Given the description of an element on the screen output the (x, y) to click on. 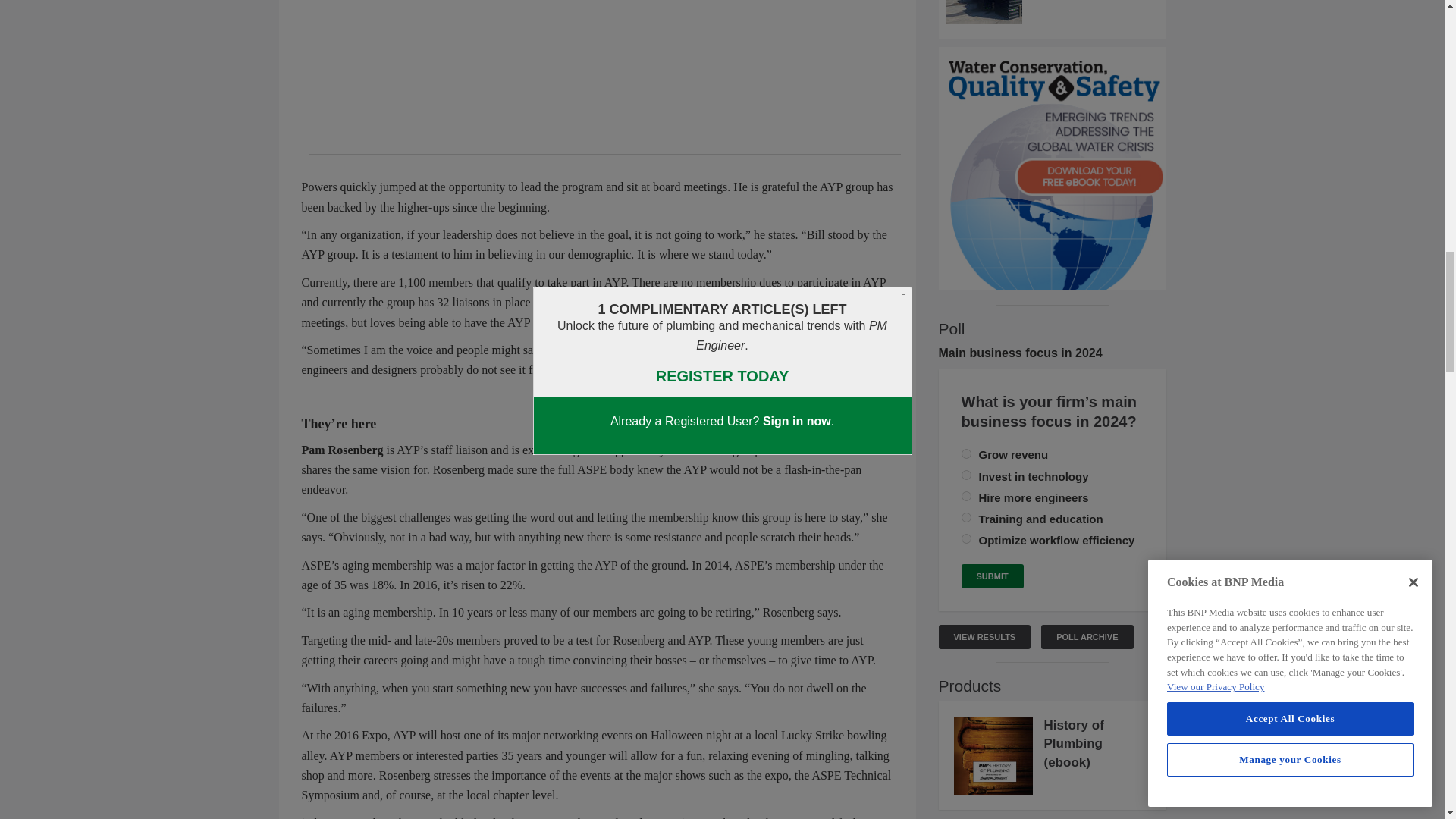
IPEX North American announces ABS DWV Pipe and Fittings (1052, 12)
Submit (991, 576)
327 (965, 538)
324 (965, 453)
328 (965, 517)
326 (965, 496)
325 (965, 474)
